Given the description of an element on the screen output the (x, y) to click on. 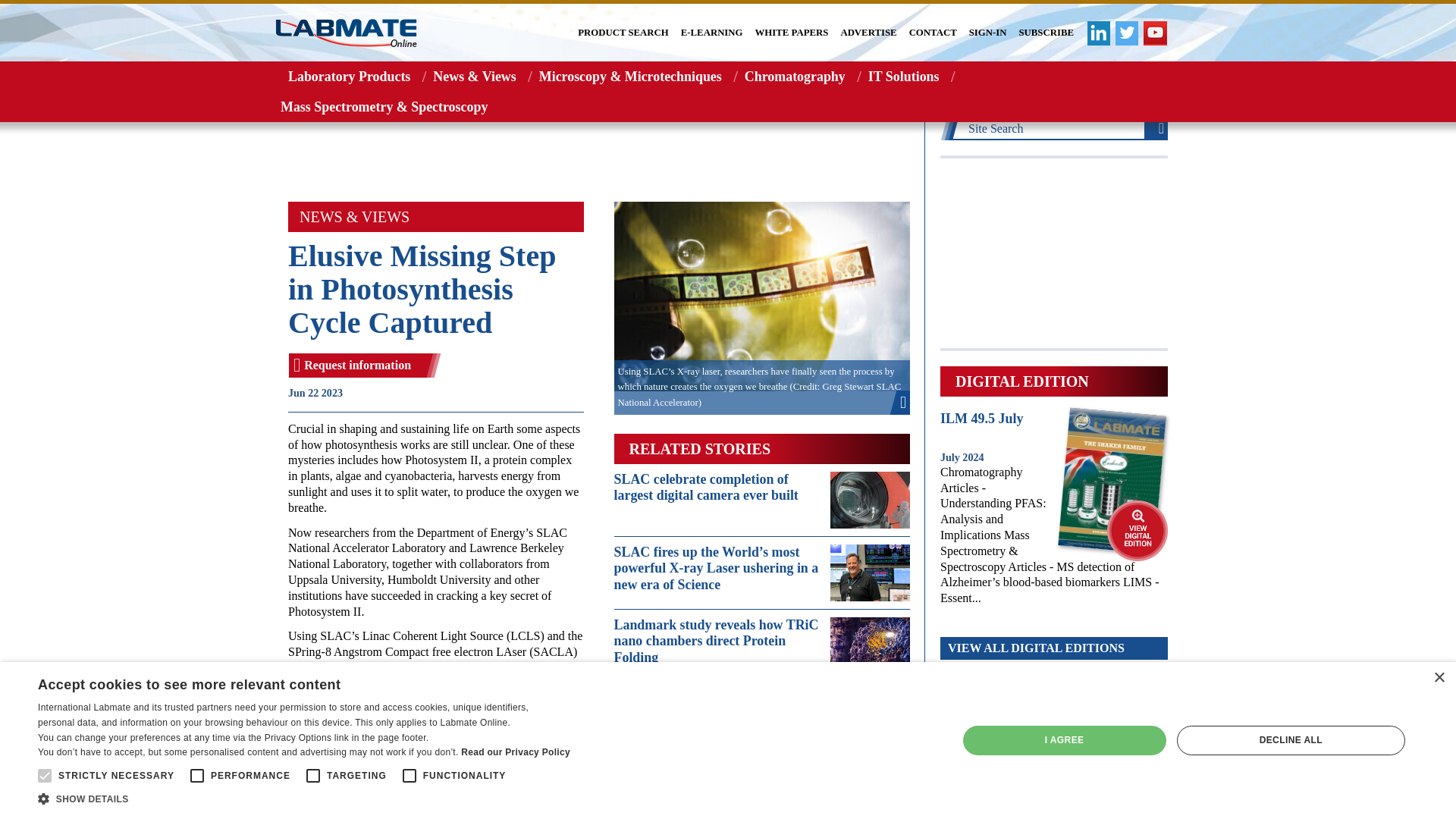
WHITE PAPERS (791, 32)
ADVERTISE (868, 32)
PRODUCT SEARCH (623, 32)
SIGN-IN (988, 32)
SUBSCRIBE (1045, 32)
CONTACT (932, 32)
E-LEARNING (711, 32)
3rd party ad content (1053, 253)
3rd party ad content (599, 151)
